Given the description of an element on the screen output the (x, y) to click on. 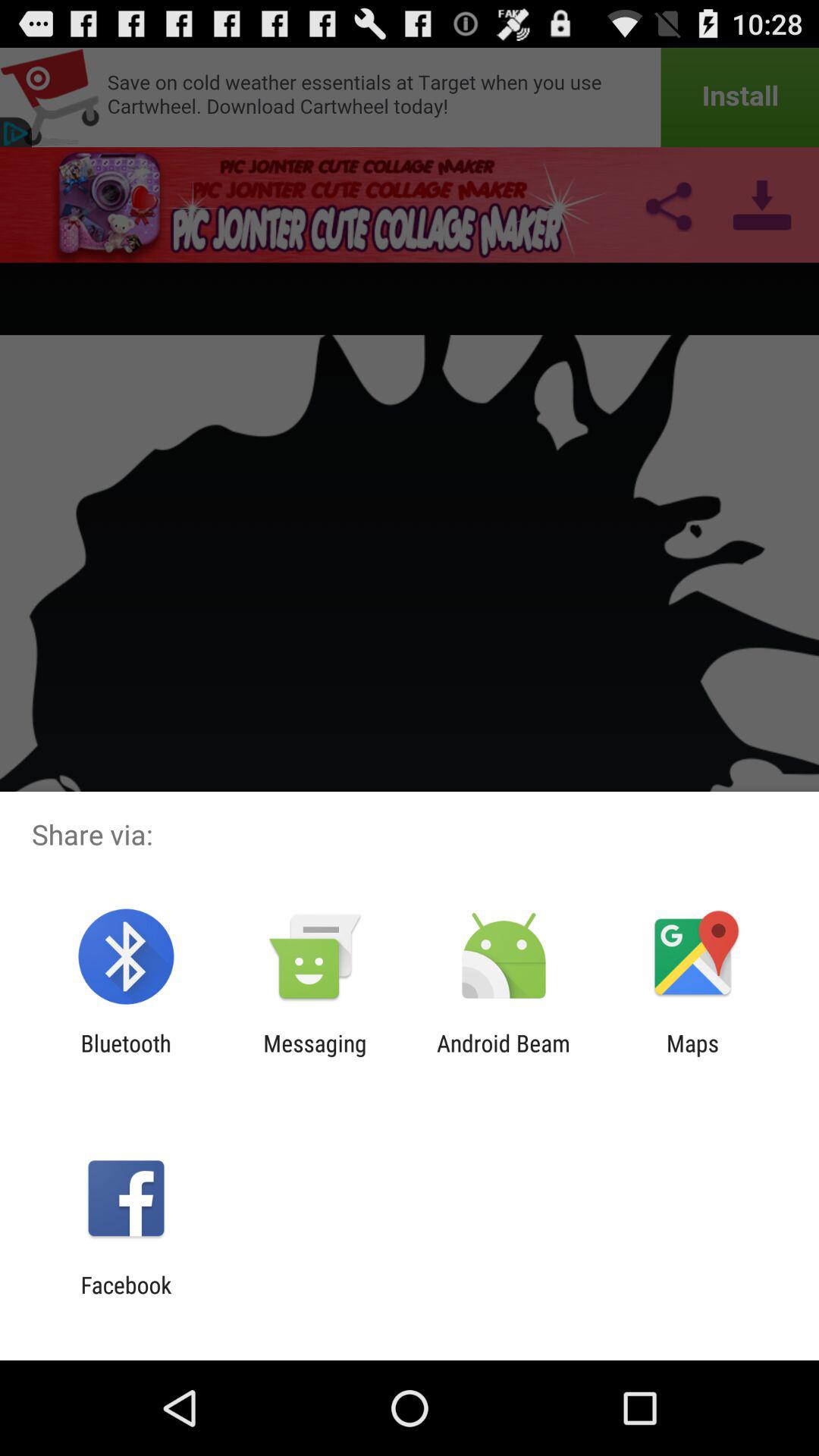
select the item next to the maps icon (503, 1056)
